Given the description of an element on the screen output the (x, y) to click on. 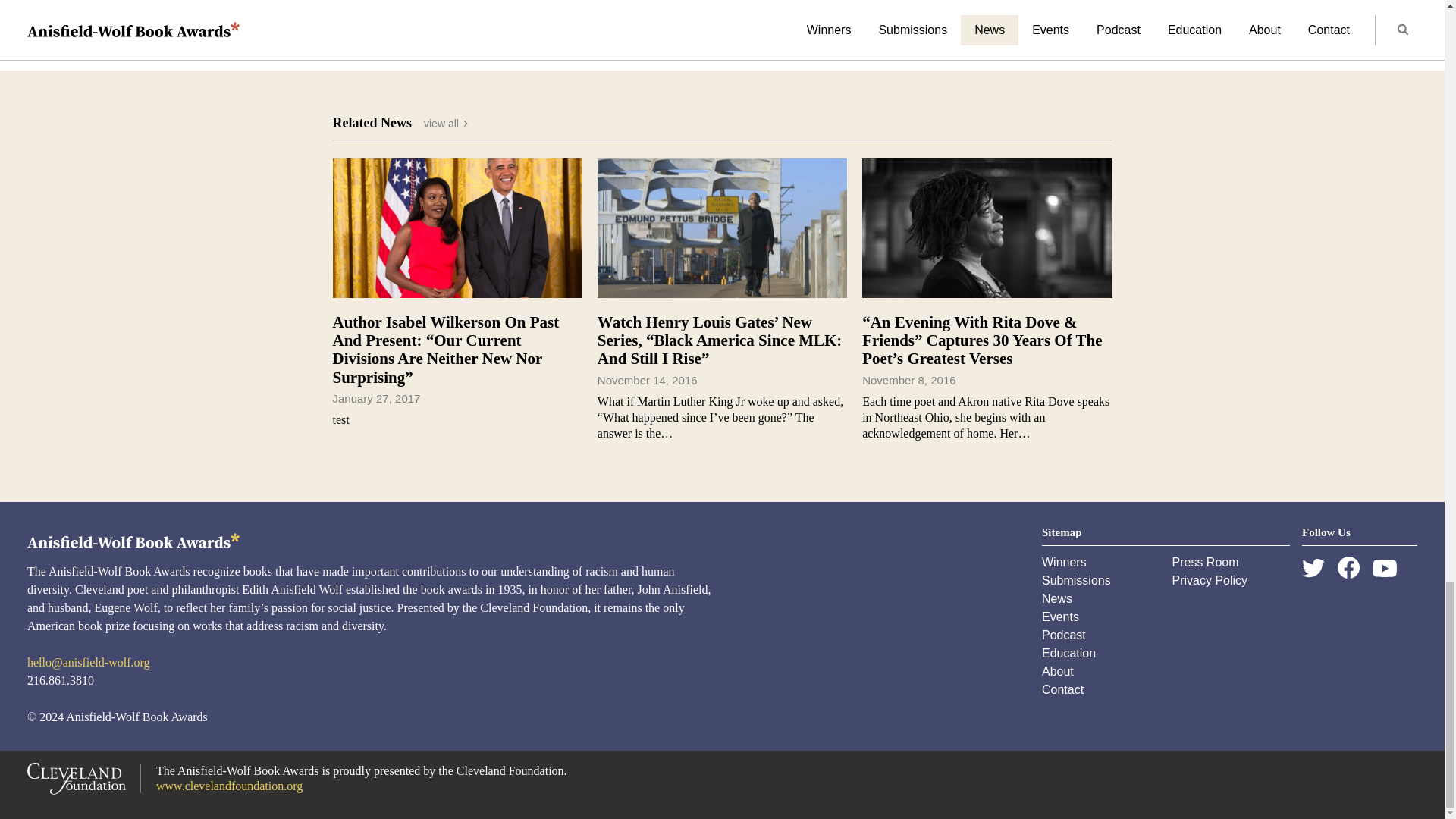
News (1056, 598)
view all (446, 123)
Be the first to comment (721, 3)
Submissions (1076, 580)
About (1058, 671)
Winners (1064, 562)
Events (1060, 616)
Podcast (1064, 634)
Press Room (1205, 562)
Education (1069, 653)
Privacy Policy (1209, 580)
Contact (1062, 689)
